Given the description of an element on the screen output the (x, y) to click on. 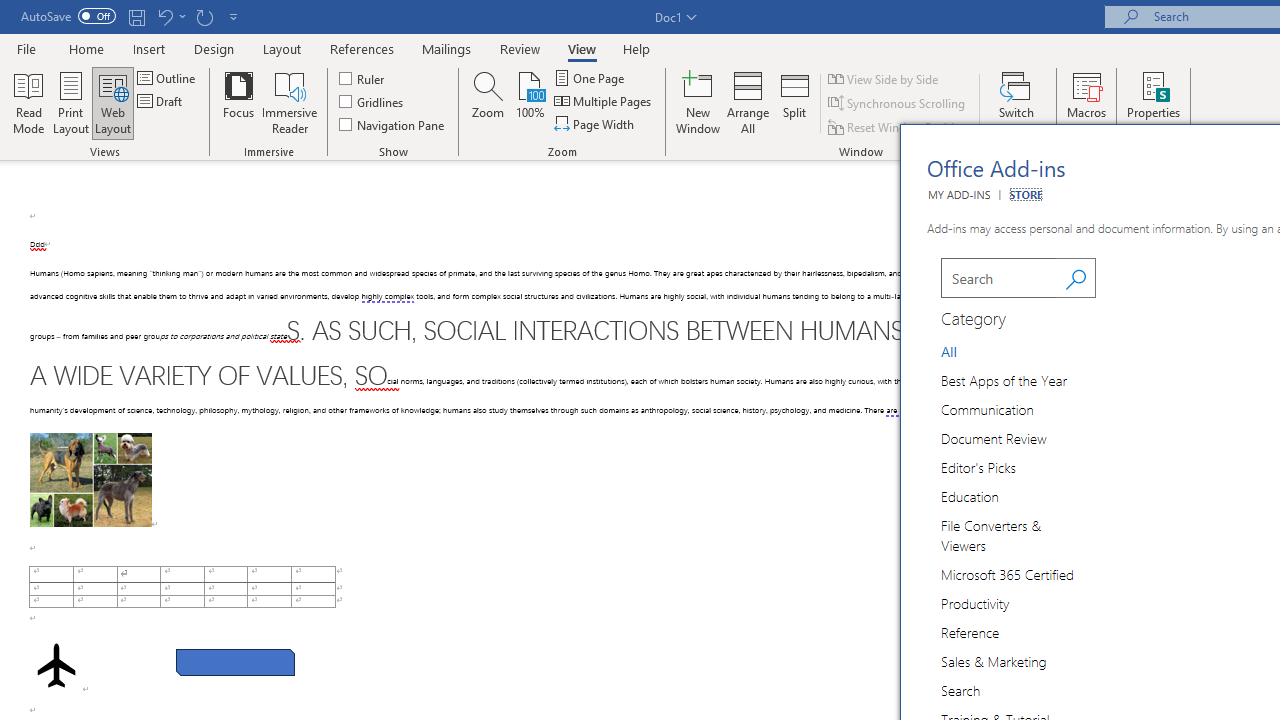
Category Group Communication 3 of 14 (990, 408)
View Side by Side (884, 78)
Mobile Data Collection - Scan-IT to Office icon (1137, 651)
Category Group Microsoft 365 Certified 8 of 14 (1010, 573)
Script Lab, a Microsoft Garage project icon (1137, 466)
Category Group All selected 1 of 14 (952, 350)
Ruler (362, 78)
Category Group Document Review 4 of 14 (997, 437)
100% (529, 102)
